Given the description of an element on the screen output the (x, y) to click on. 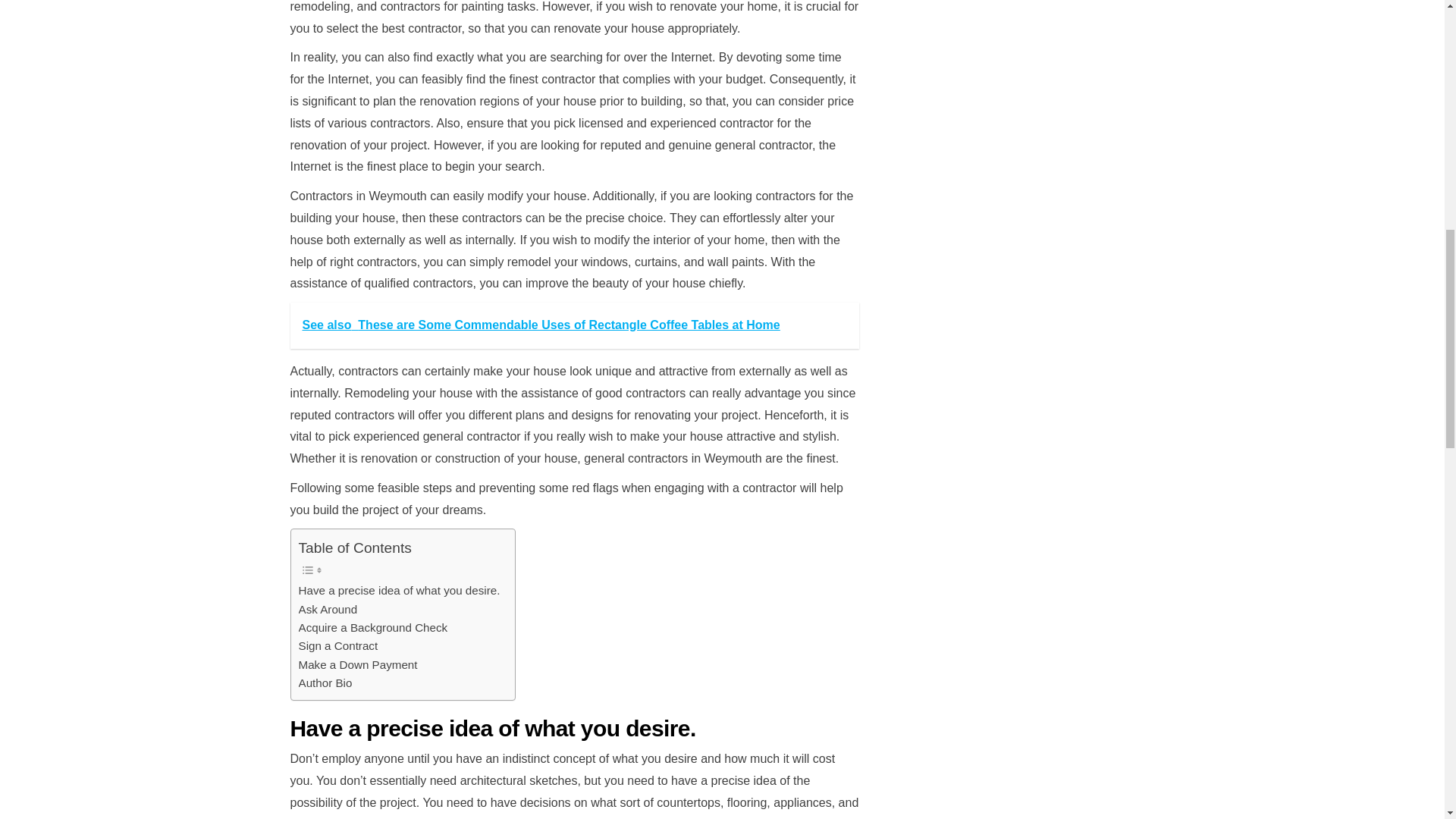
Ask Around (328, 609)
Sign a Contract (338, 646)
Have a precise idea of what you desire. (399, 590)
Acquire a Background Check (373, 628)
Author Bio (325, 683)
Have a precise idea of what you desire. (399, 590)
Make a Down Payment (357, 665)
Sign a Contract (338, 646)
Acquire a Background Check (373, 628)
